Given the description of an element on the screen output the (x, y) to click on. 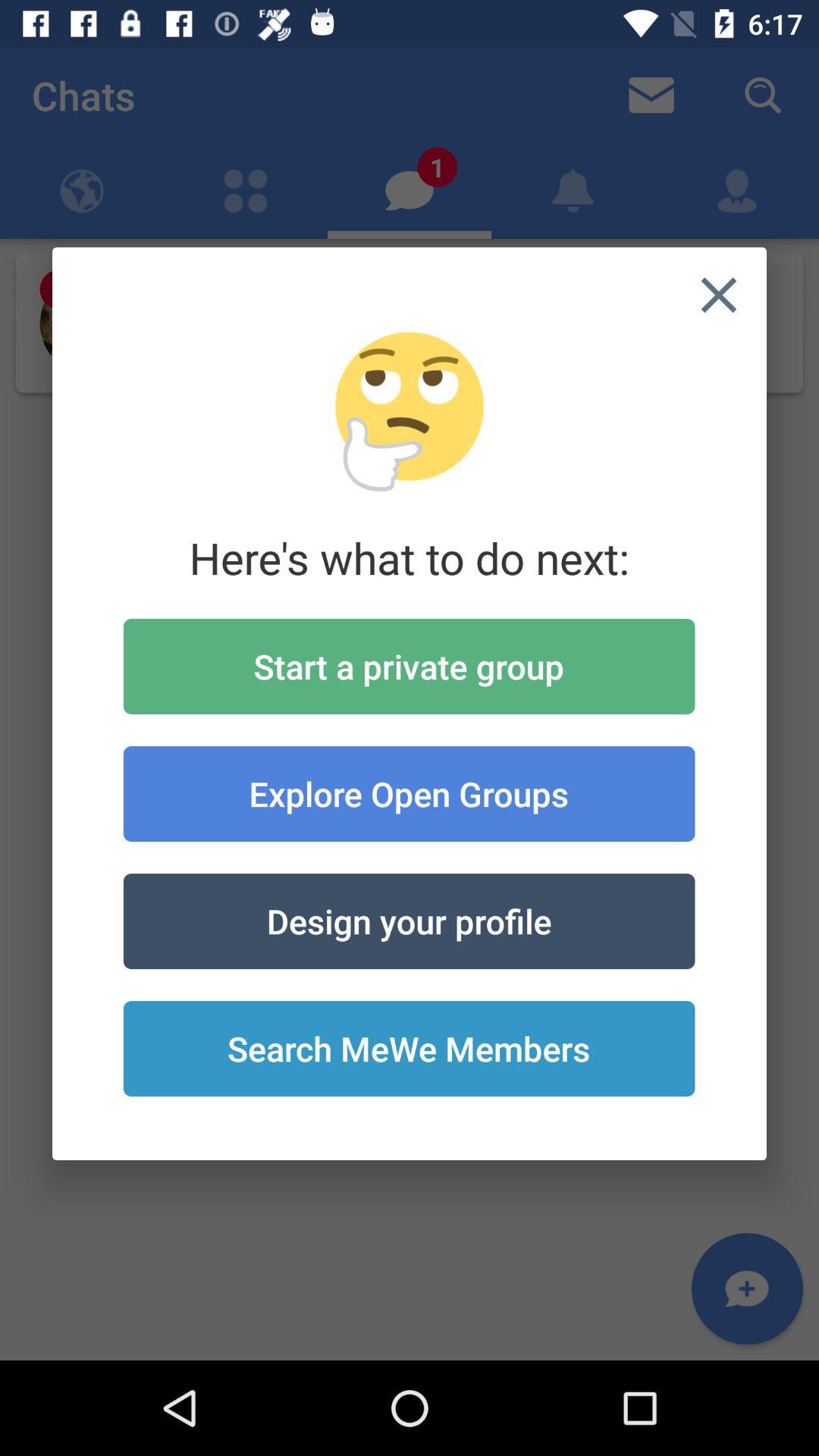
choose icon at the top right corner (718, 295)
